Given the description of an element on the screen output the (x, y) to click on. 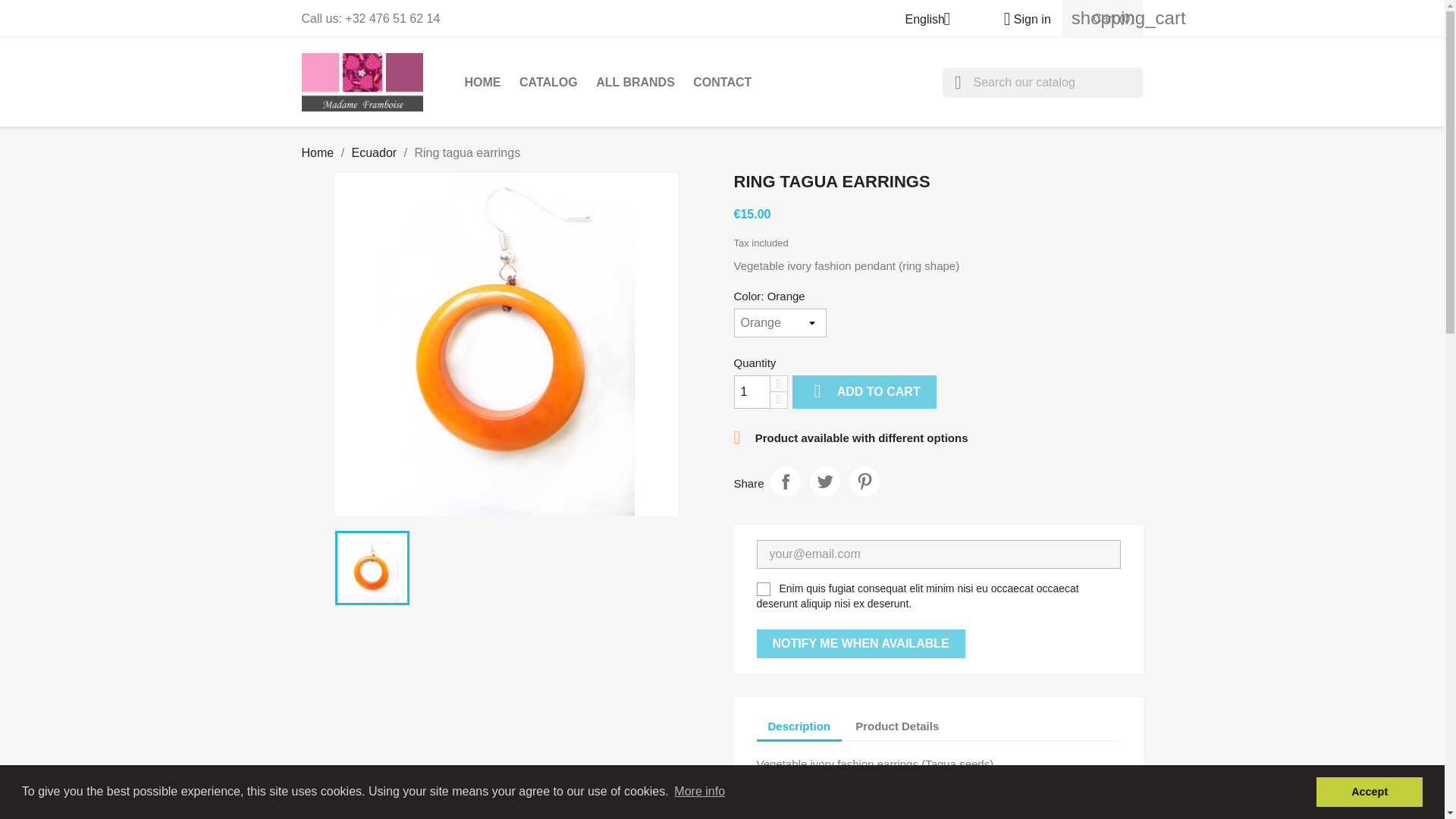
Product Details (897, 725)
1 (751, 391)
Description (800, 727)
Share (785, 481)
Share (785, 481)
Ecuador (374, 152)
Accept (1369, 791)
More info (698, 791)
Home (317, 152)
Orange ring tagua earrings - Madame Framboise (506, 343)
